Given the description of an element on the screen output the (x, y) to click on. 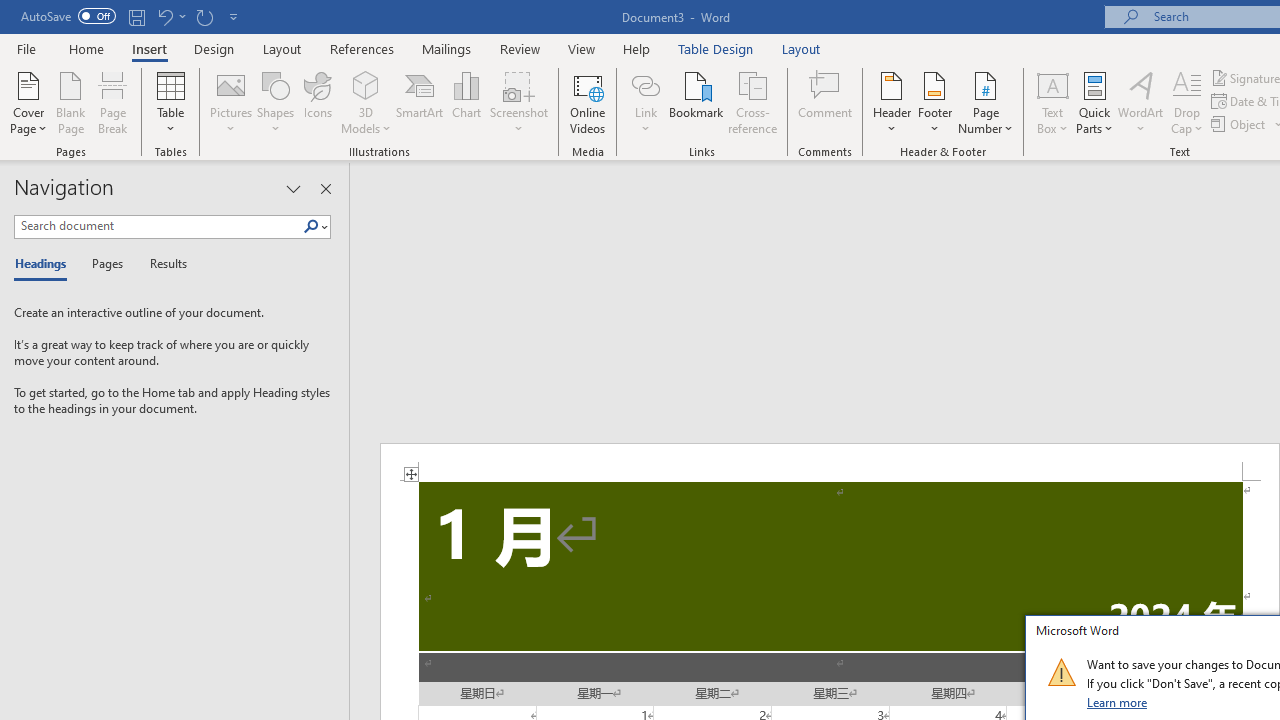
Header (891, 102)
Repeat Doc Close (204, 15)
3D Models (366, 102)
Cover Page (28, 102)
Quick Parts (1094, 102)
